Given the description of an element on the screen output the (x, y) to click on. 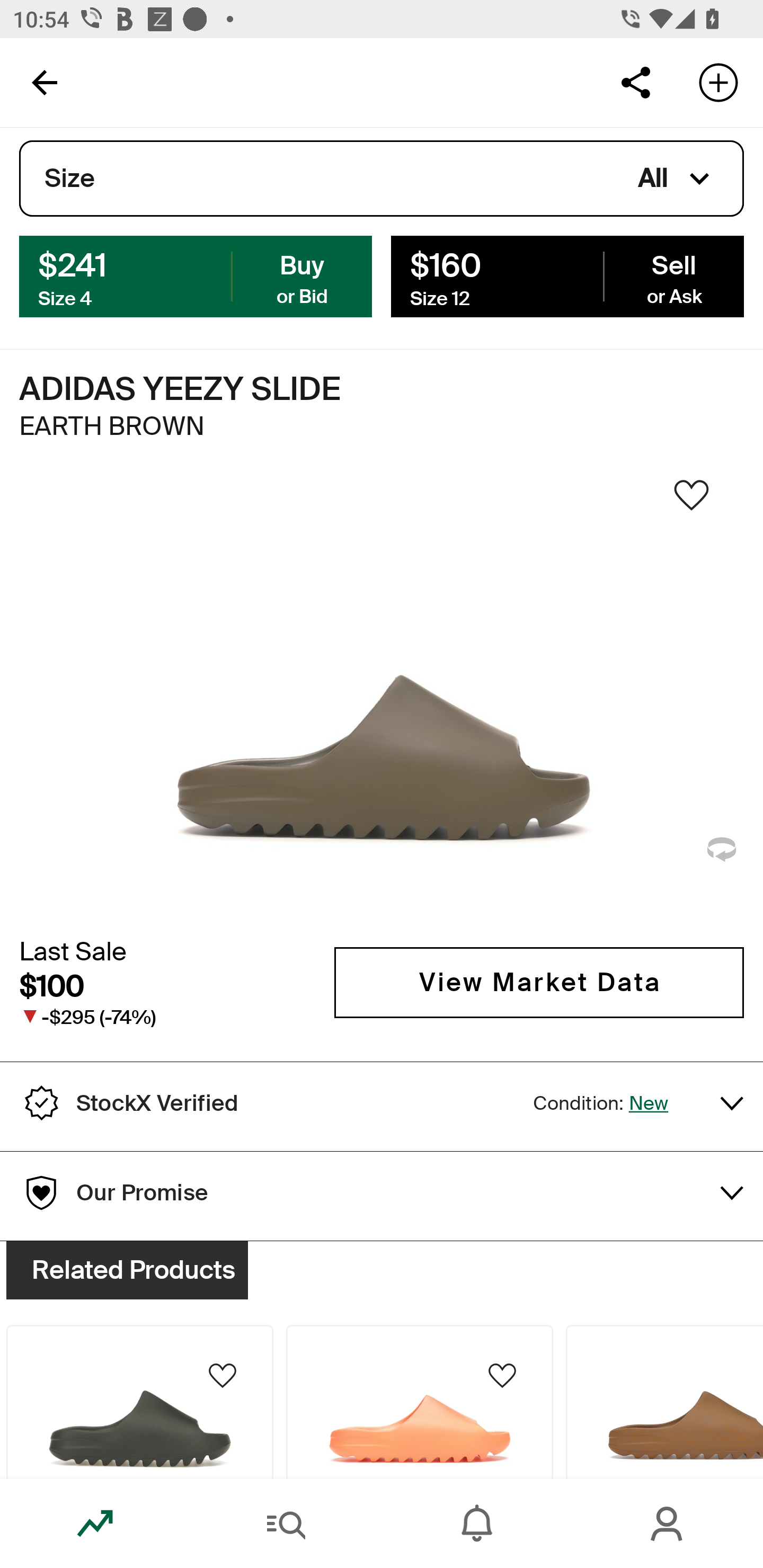
SpringNewArrivals-KithStussy_Primary_Mobile.jpg (381, 322)
Share (635, 81)
Add (718, 81)
Size All (381, 178)
$241 Buy Size 4 or Bid (195, 275)
$160 Sell Size 12 or Ask (566, 275)
View Market Data (538, 982)
Product Image (139, 1401)
Product Image (419, 1401)
Product Image (664, 1401)
Search (285, 1523)
Inbox (476, 1523)
Account (667, 1523)
